Given the description of an element on the screen output the (x, y) to click on. 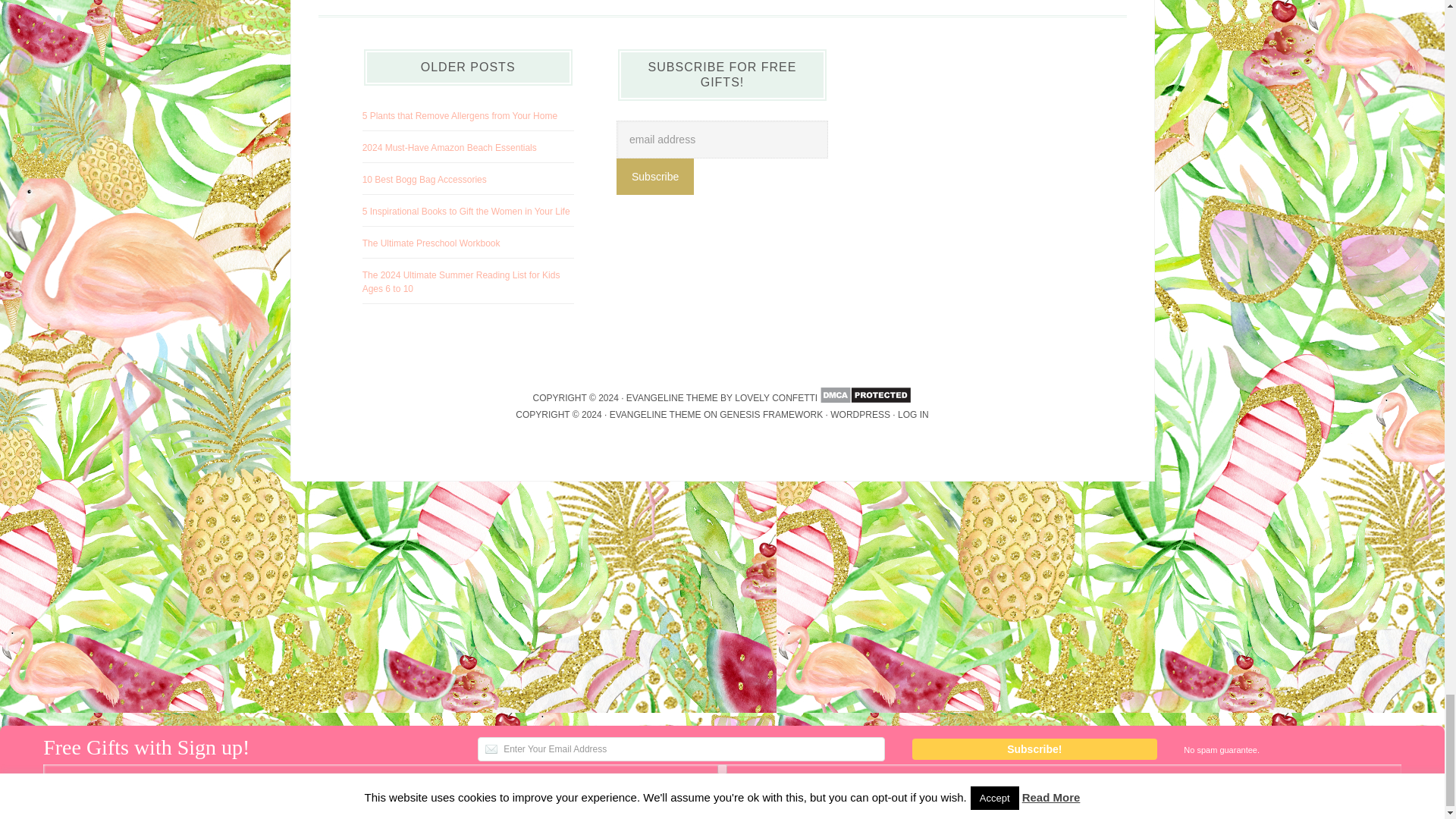
DMCA.com Protection Status (863, 398)
Subscribe! (1034, 749)
Subscribe (654, 176)
